Given the description of an element on the screen output the (x, y) to click on. 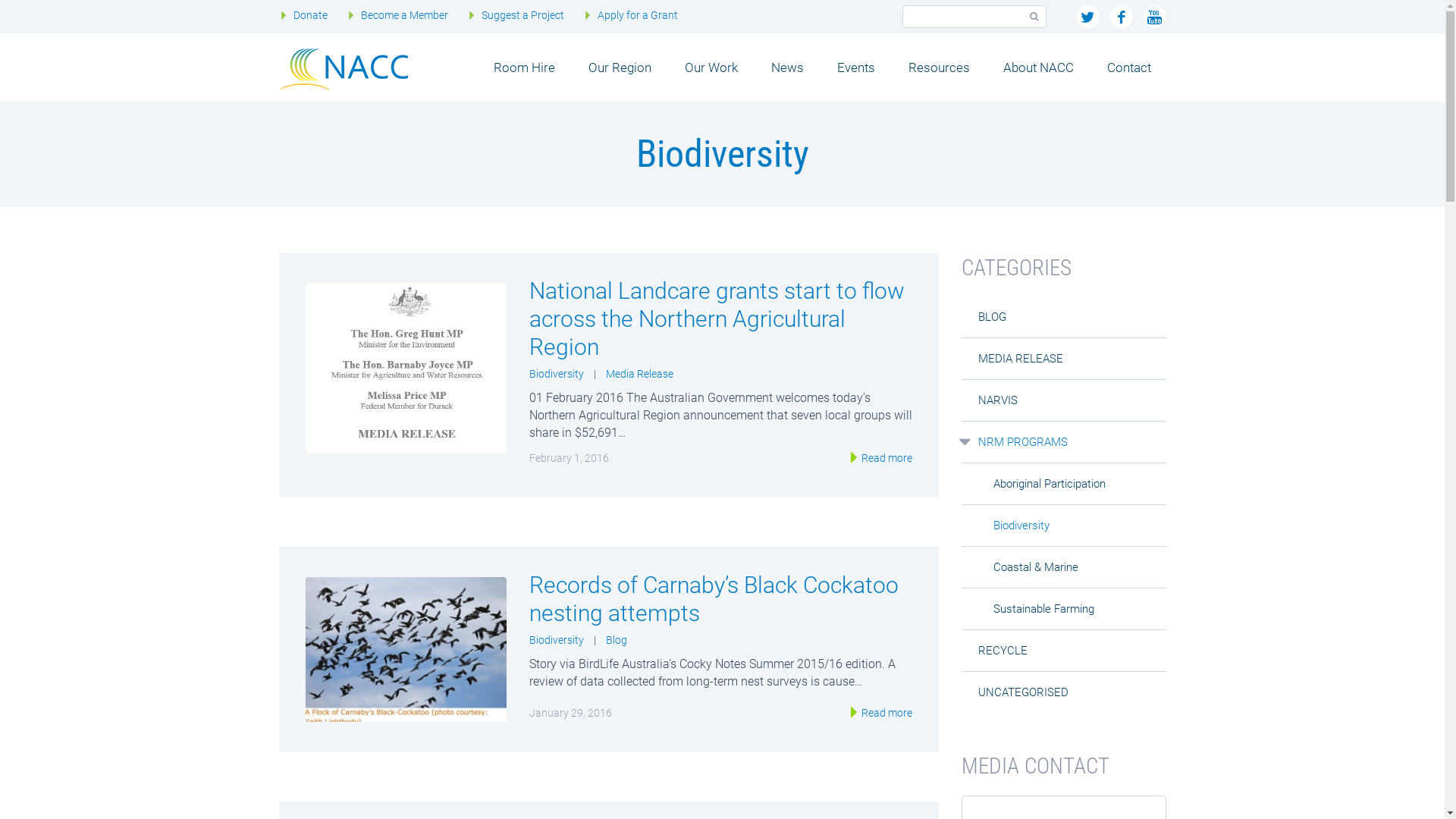
Resources Element type: text (939, 67)
Biodiversity Element type: text (556, 373)
Search Element type: text (1034, 17)
Become a Member Element type: text (404, 15)
Suggest a Project Element type: text (522, 15)
NARVIS Element type: text (997, 400)
Media Release Element type: text (638, 373)
Sustainable Farming Element type: text (1043, 608)
UNCATEGORISED Element type: text (1023, 692)
twitter Element type: text (1087, 16)
Blog Element type: text (615, 639)
Room Hire Element type: text (523, 67)
Coastal & Marine Element type: text (1035, 567)
RECYCLE Element type: text (1002, 650)
Aboriginal Participation Element type: text (1049, 483)
Our Work Element type: text (710, 67)
facebook Element type: text (1121, 16)
Apply for a Grant Element type: text (637, 15)
Read more Element type: text (884, 457)
MEDIA RELEASE Element type: text (1020, 358)
YouTube Element type: hover (1154, 16)
BLOG Element type: text (992, 316)
Read more Element type: text (884, 712)
About NACC Element type: text (1037, 67)
News Element type: text (786, 67)
Donate Element type: text (310, 15)
NRM PROGRAMS Element type: text (1022, 441)
Biodiversity Element type: text (556, 639)
Our Region Element type: text (619, 67)
Contact Element type: text (1129, 67)
Events Element type: text (856, 67)
Biodiversity Element type: text (1021, 525)
